Given the description of an element on the screen output the (x, y) to click on. 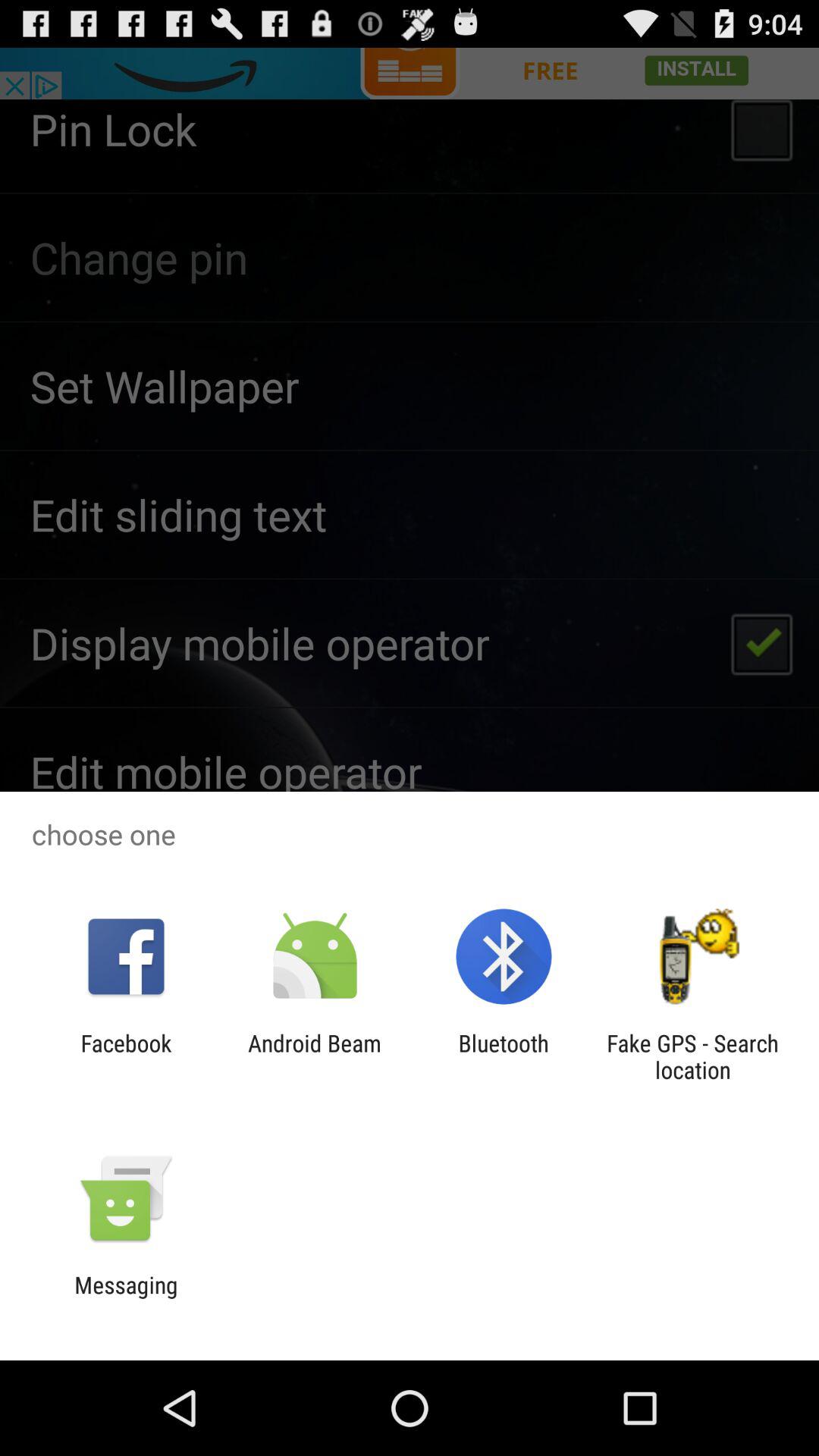
choose messaging (126, 1298)
